Given the description of an element on the screen output the (x, y) to click on. 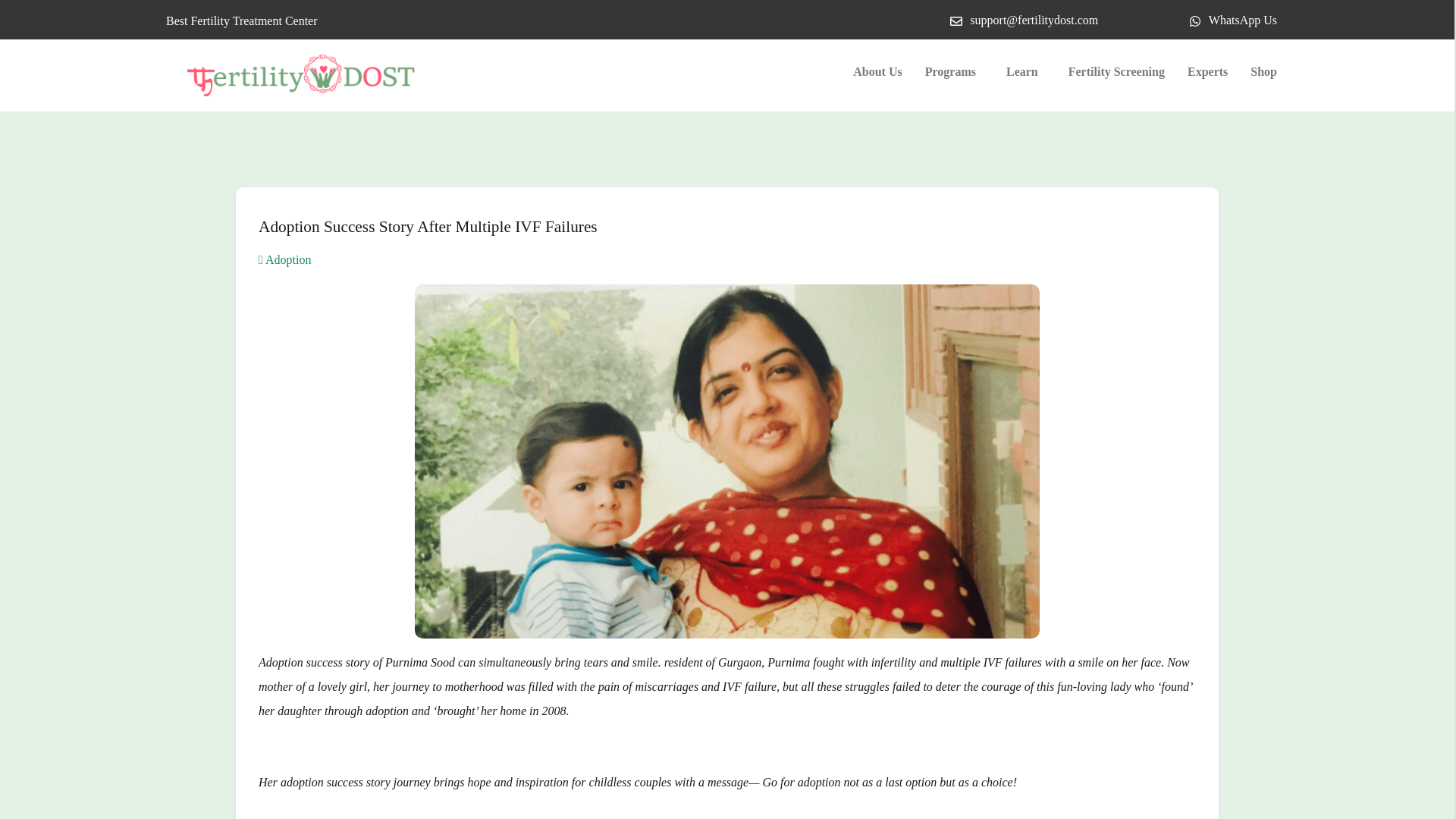
Adoption (285, 259)
Shop (1263, 71)
About Us (876, 71)
WhatsApp Us (1232, 20)
Learn (1025, 71)
Experts (1207, 71)
Fertility Screening (1116, 71)
Programs (954, 71)
